Given the description of an element on the screen output the (x, y) to click on. 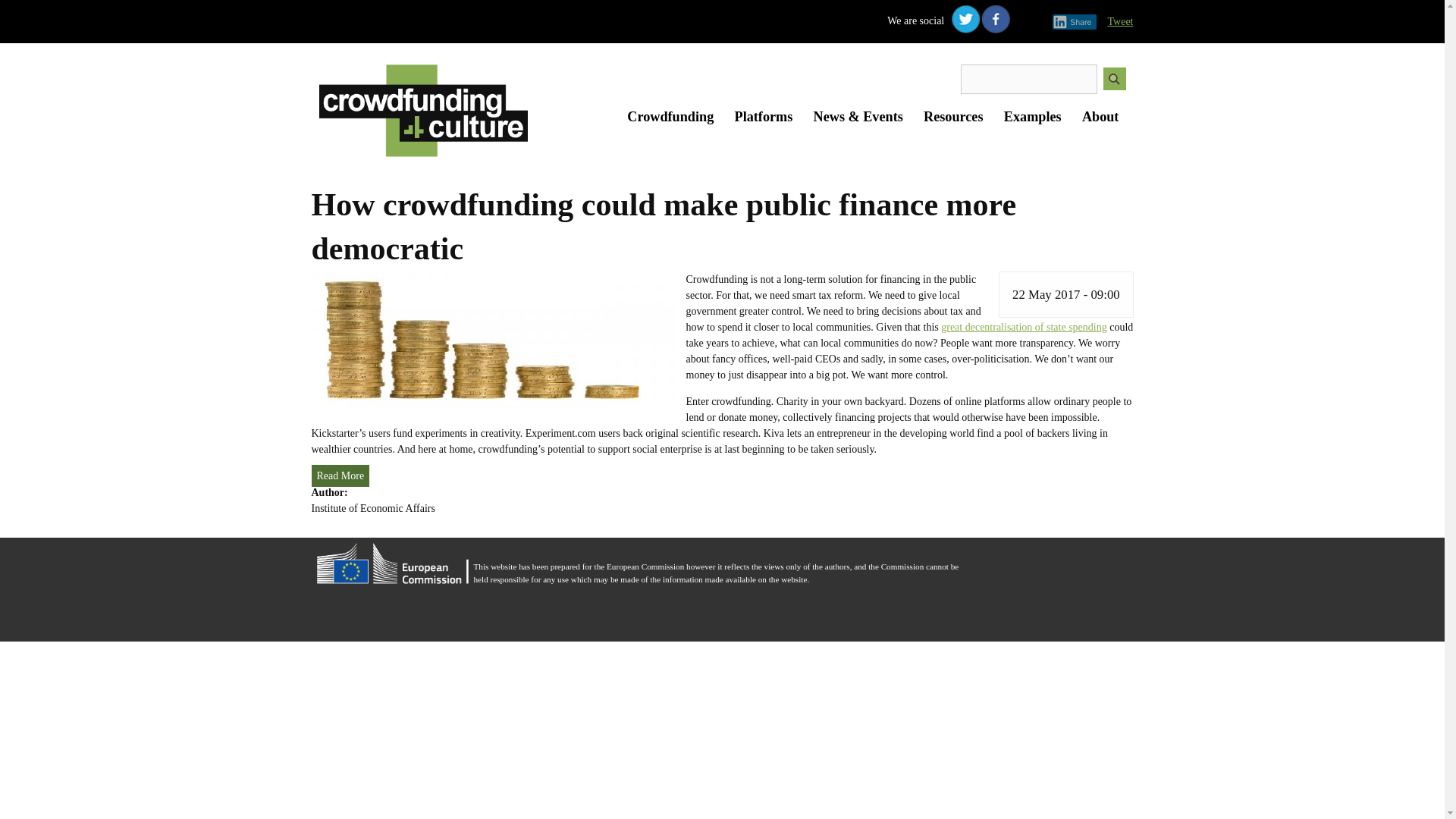
Read More (340, 475)
Examples (1032, 116)
Search (1113, 78)
Enter the terms you wish to search for. (1028, 79)
About (1100, 116)
Search (1113, 78)
great decentralisation of state spending (1023, 326)
Tweet (1119, 21)
Resources (953, 116)
